Given the description of an element on the screen output the (x, y) to click on. 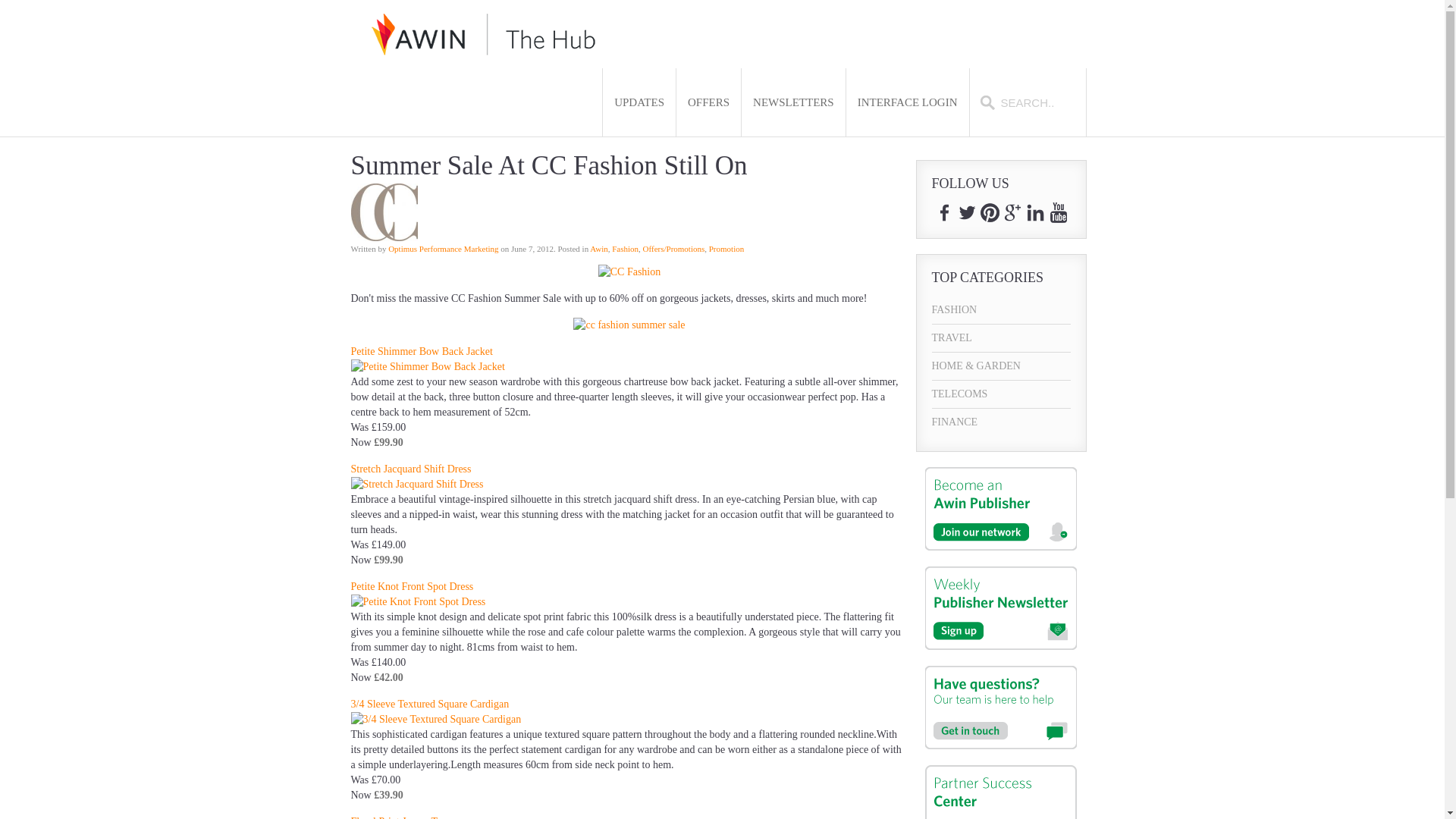
Interface Login (907, 102)
Optimus Performance Marketing (442, 248)
NEWSLETTERS (793, 102)
Petite Knot Front Spot Dress (411, 586)
INTERFACE LOGIN (907, 102)
Floral Print Jersey Top (398, 817)
OFFERS (708, 102)
Optimus Performance Marketing (442, 248)
Petite Shimmer Bow Back Jacket (421, 351)
Fashion (625, 248)
